Given the description of an element on the screen output the (x, y) to click on. 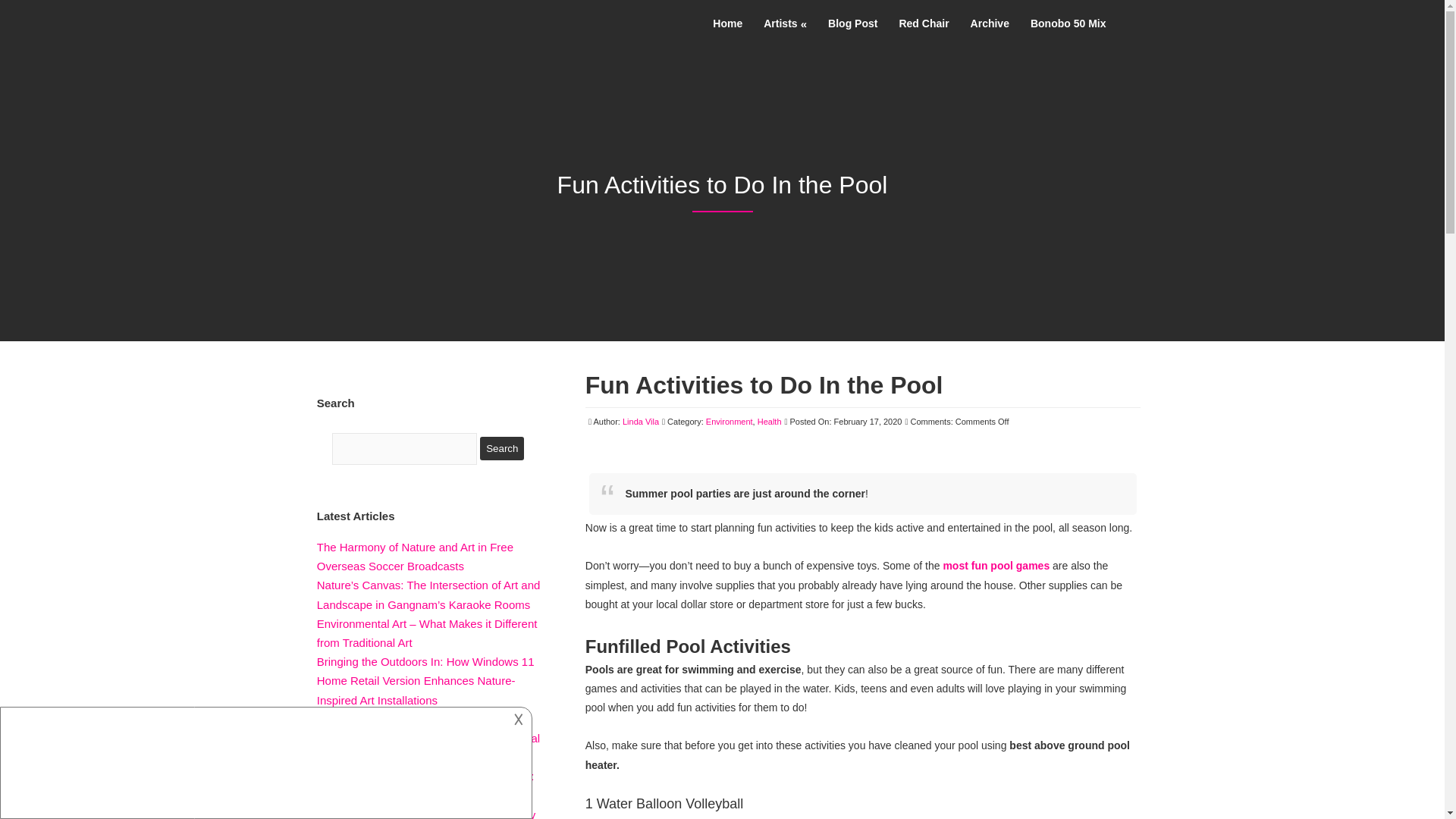
Home (726, 15)
Red Chair (923, 23)
Blog Post (852, 23)
Bonobo 50 Mix (1068, 23)
Linda Vila (641, 420)
description (264, 760)
Artists (784, 16)
Archive (989, 23)
Fun Activities to Do In the Pool (764, 384)
Lookin Art (326, 16)
Search (502, 448)
